Given the description of an element on the screen output the (x, y) to click on. 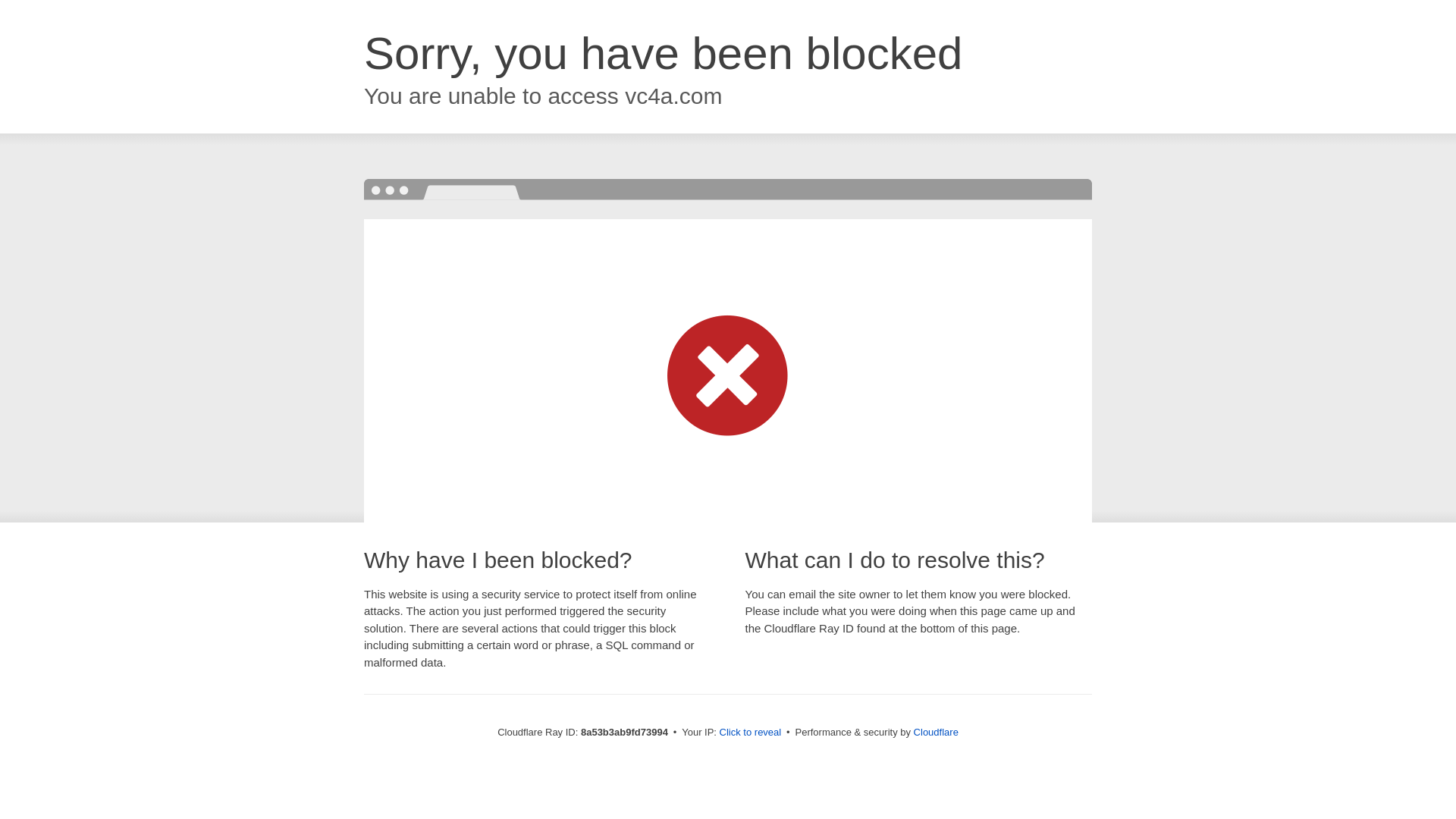
Click to reveal (750, 732)
Cloudflare (936, 731)
